Given the description of an element on the screen output the (x, y) to click on. 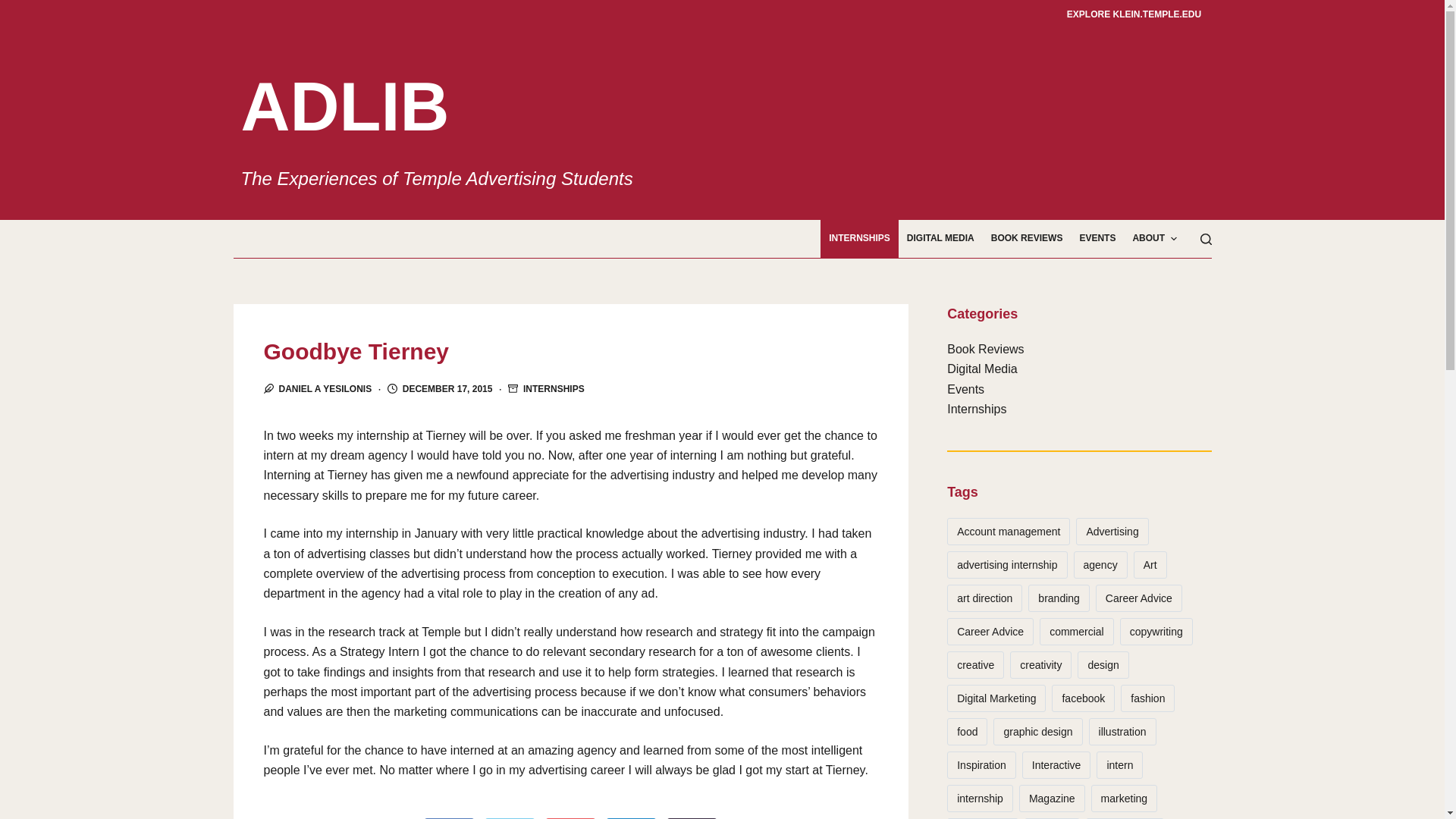
Goodbye Tierney (570, 351)
BOOK REVIEWS (1026, 238)
ABOUT (1154, 238)
INTERNSHIPS (553, 388)
ADLIB (345, 106)
EVENTS (1097, 238)
INTERNSHIPS (859, 238)
Posts by Daniel A Yesilonis (325, 388)
EXPLORE KLEIN.TEMPLE.EDU (1134, 14)
DIGITAL MEDIA (940, 238)
